Given the description of an element on the screen output the (x, y) to click on. 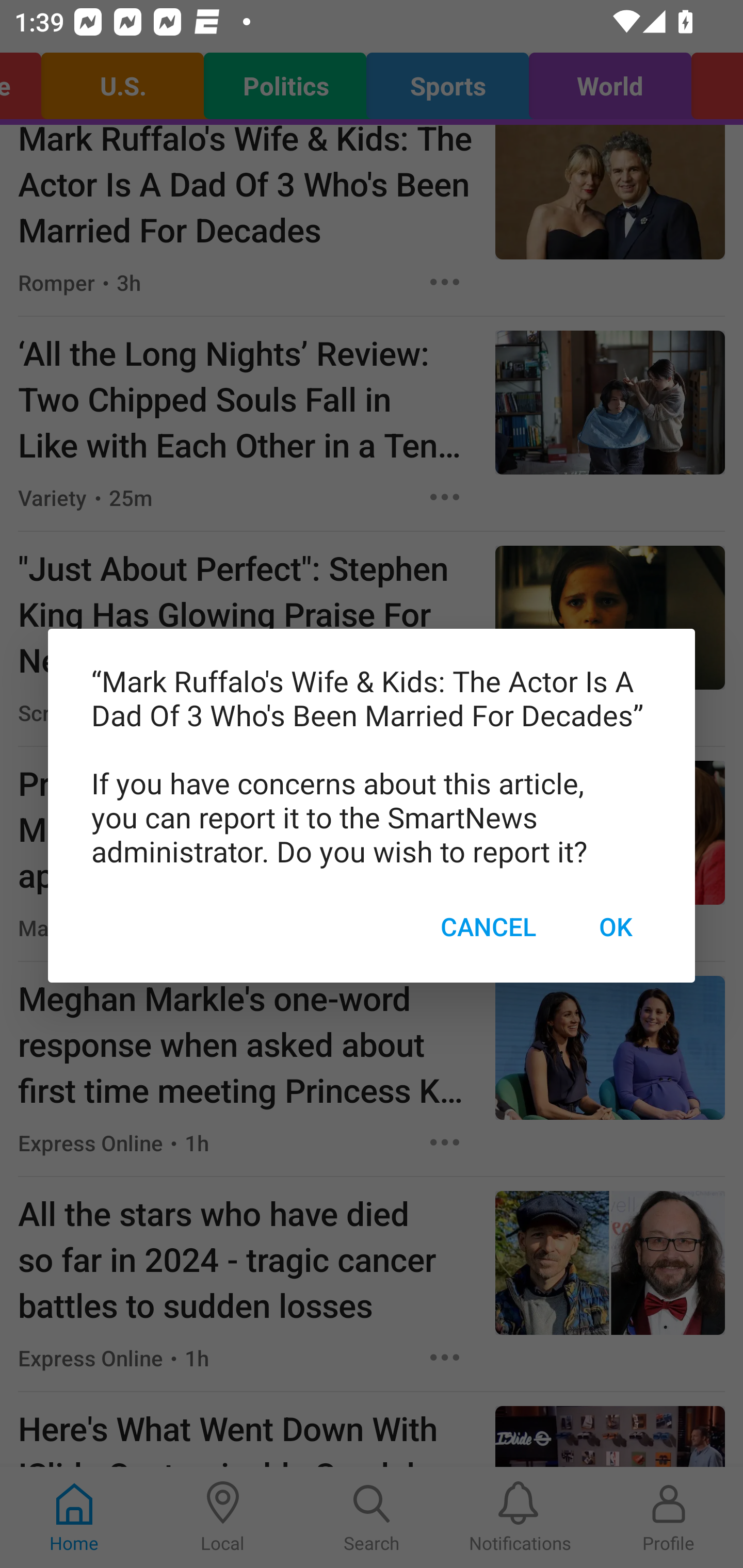
CANCEL (488, 926)
OK (615, 926)
